Given the description of an element on the screen output the (x, y) to click on. 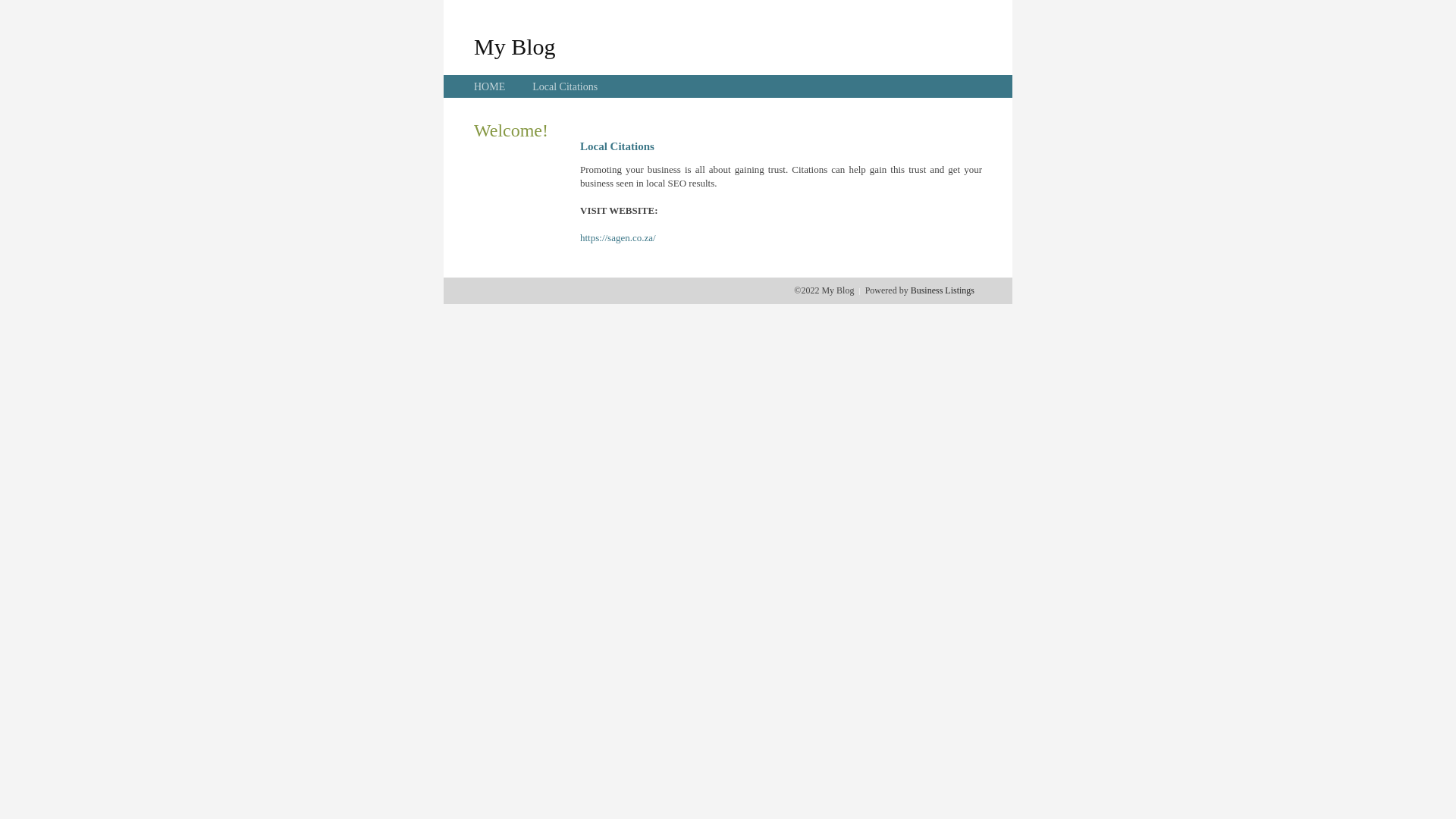
Business Listings Element type: text (942, 290)
https://sagen.co.za/ Element type: text (617, 237)
Local Citations Element type: text (564, 86)
HOME Element type: text (489, 86)
My Blog Element type: text (514, 46)
